Given the description of an element on the screen output the (x, y) to click on. 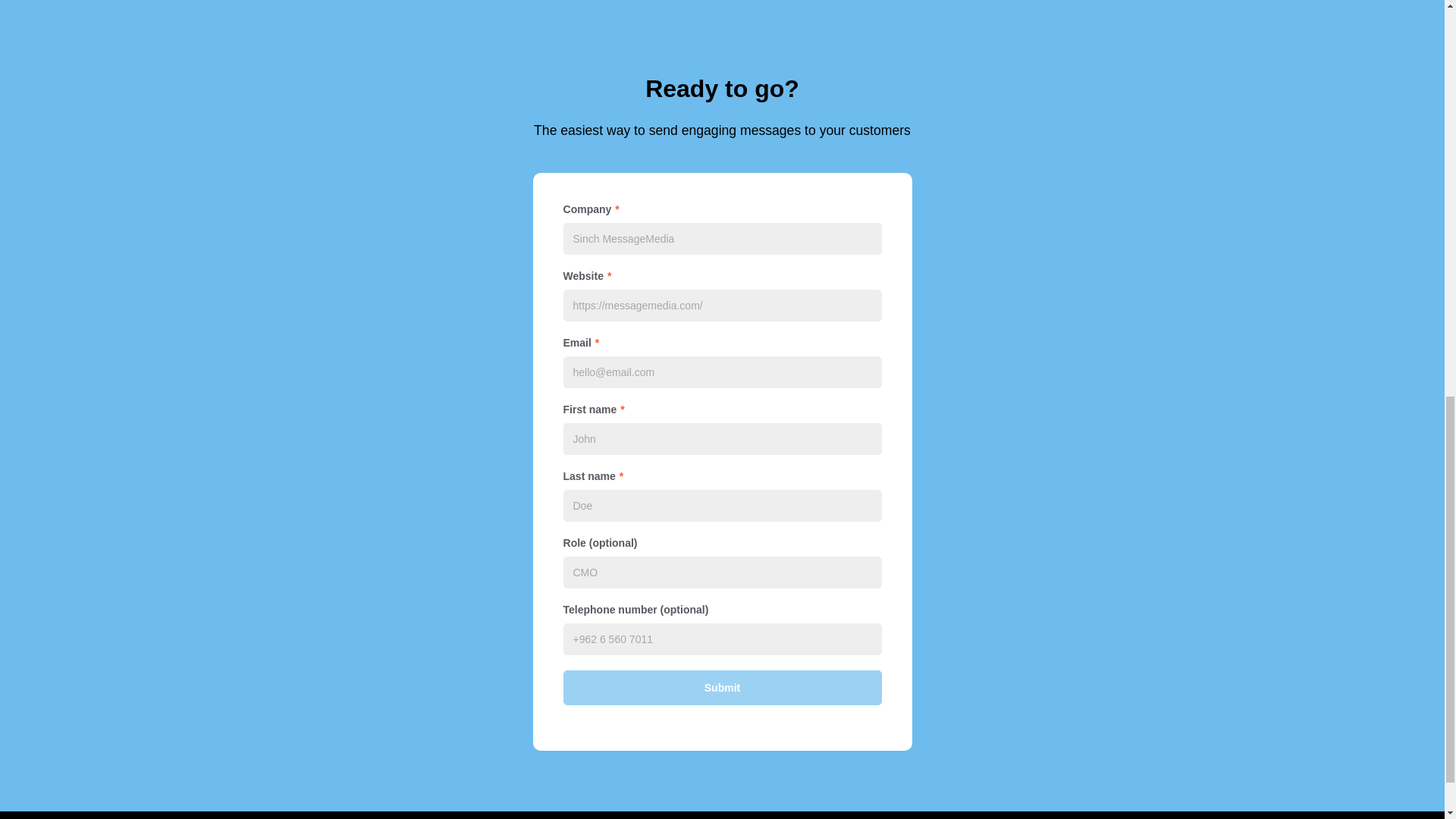
Submit (721, 687)
